Given the description of an element on the screen output the (x, y) to click on. 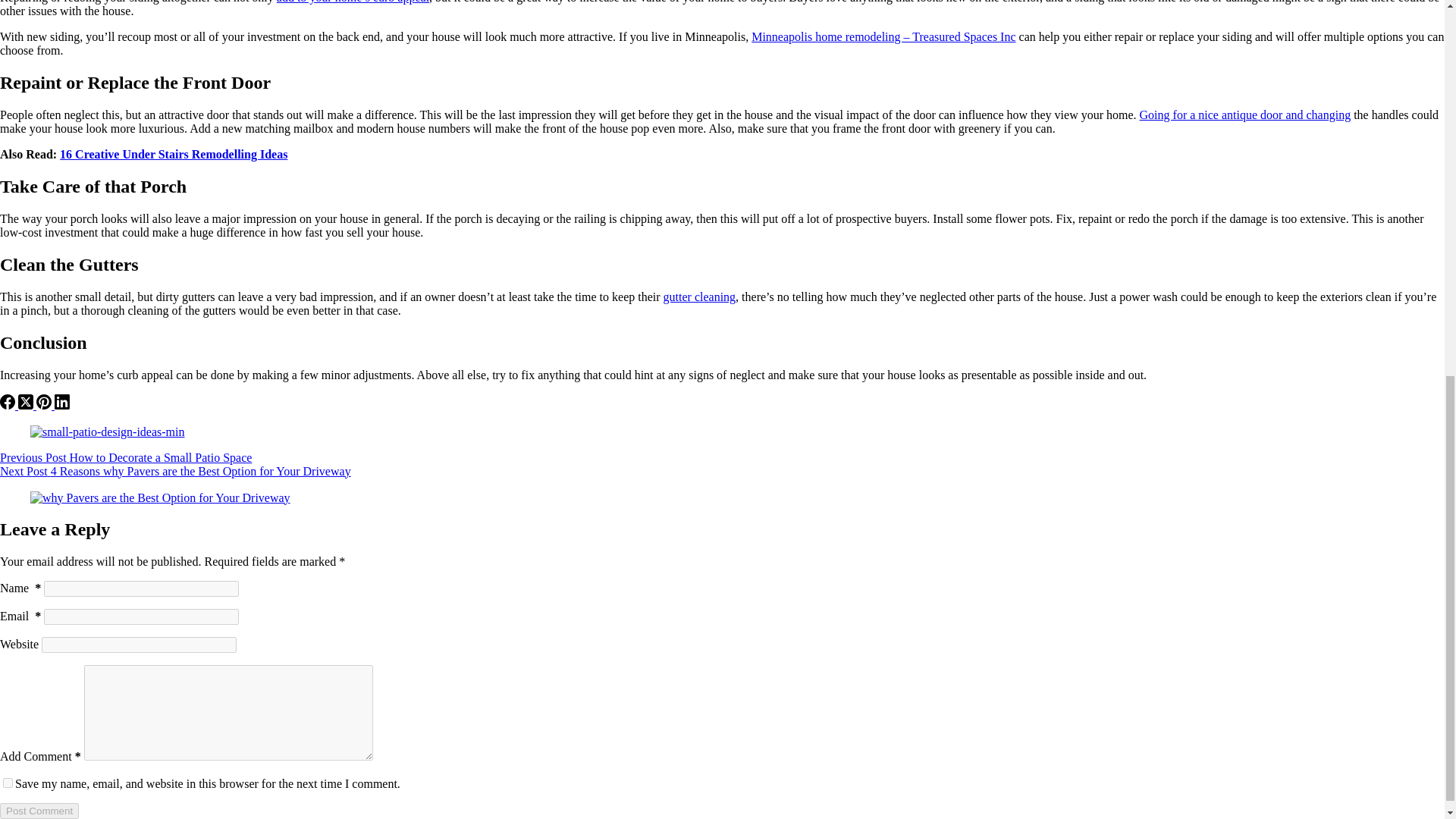
yes (7, 782)
gutter cleaning (699, 296)
Going for a nice antique door and changing (1245, 114)
16 Creative Under Stairs Remodelling Ideas (172, 154)
